Given the description of an element on the screen output the (x, y) to click on. 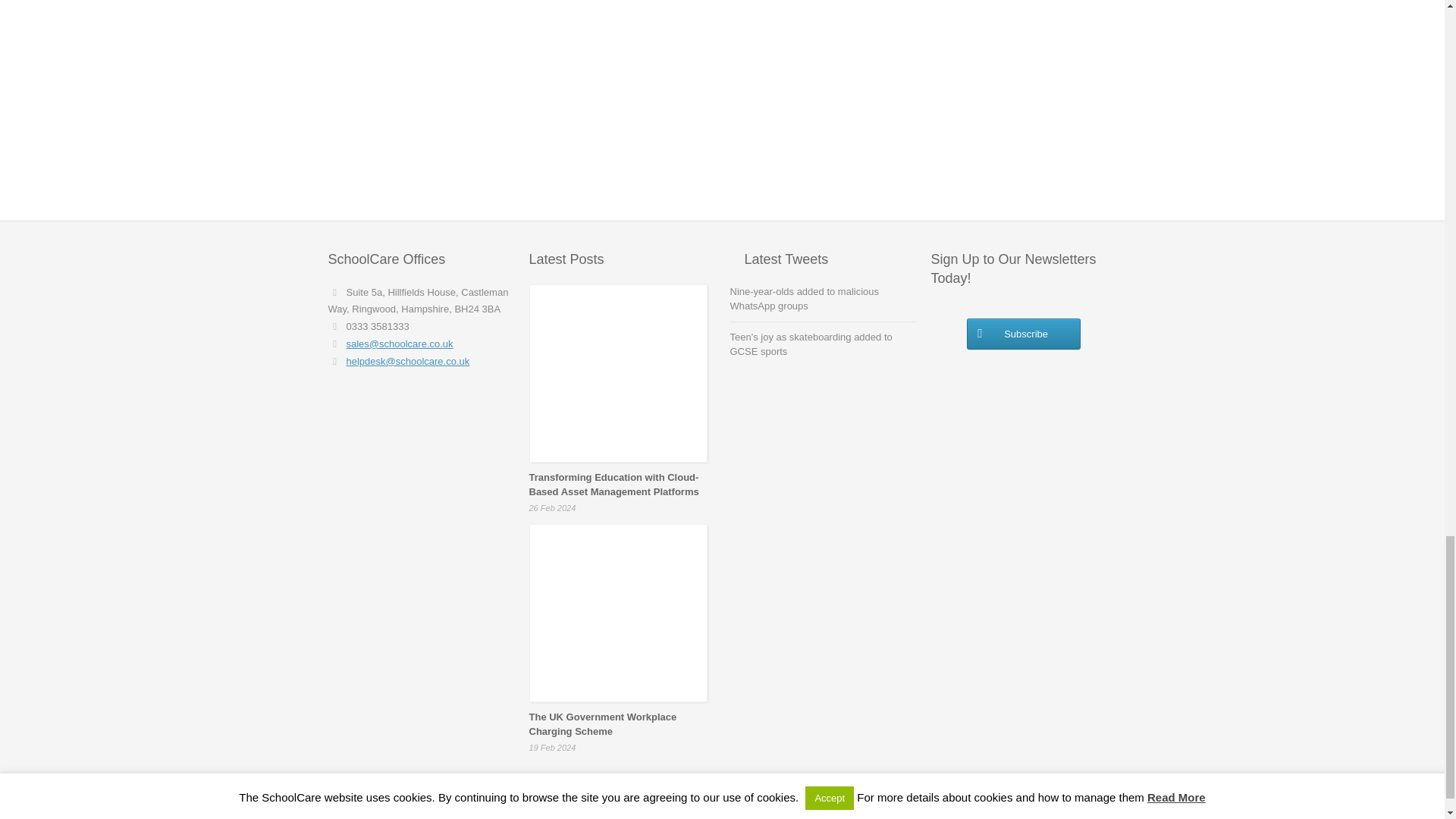
Twitter (1064, 798)
Linkedin (1106, 798)
Facebook (1085, 798)
